Given the description of an element on the screen output the (x, y) to click on. 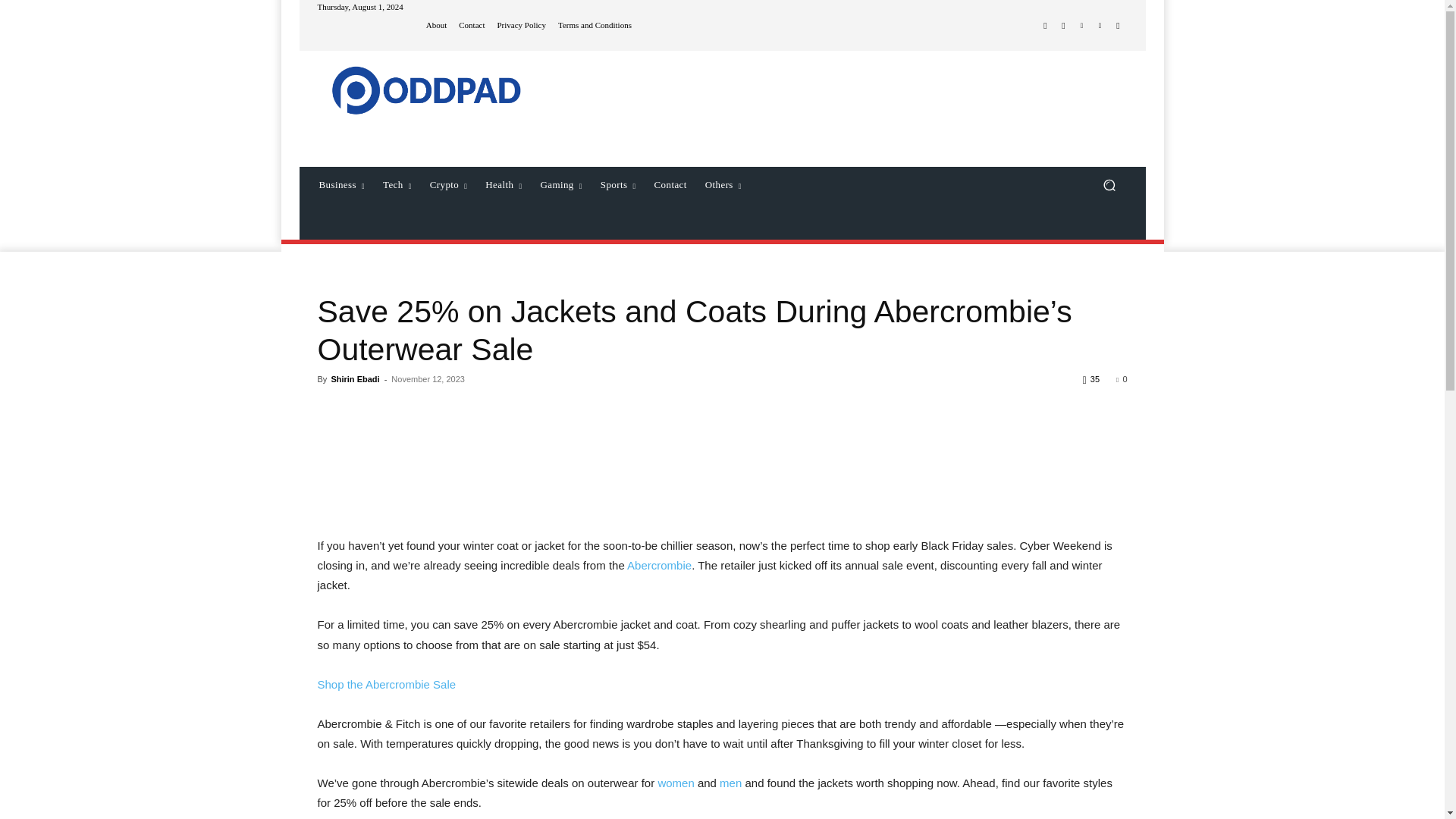
About (436, 25)
Vimeo (1099, 25)
Terms and Conditions (594, 25)
Twitter (1080, 25)
Instagram (1062, 25)
Facebook (1044, 25)
Privacy Policy (520, 25)
Contact (471, 25)
Business (341, 185)
Youtube (1117, 25)
